Given the description of an element on the screen output the (x, y) to click on. 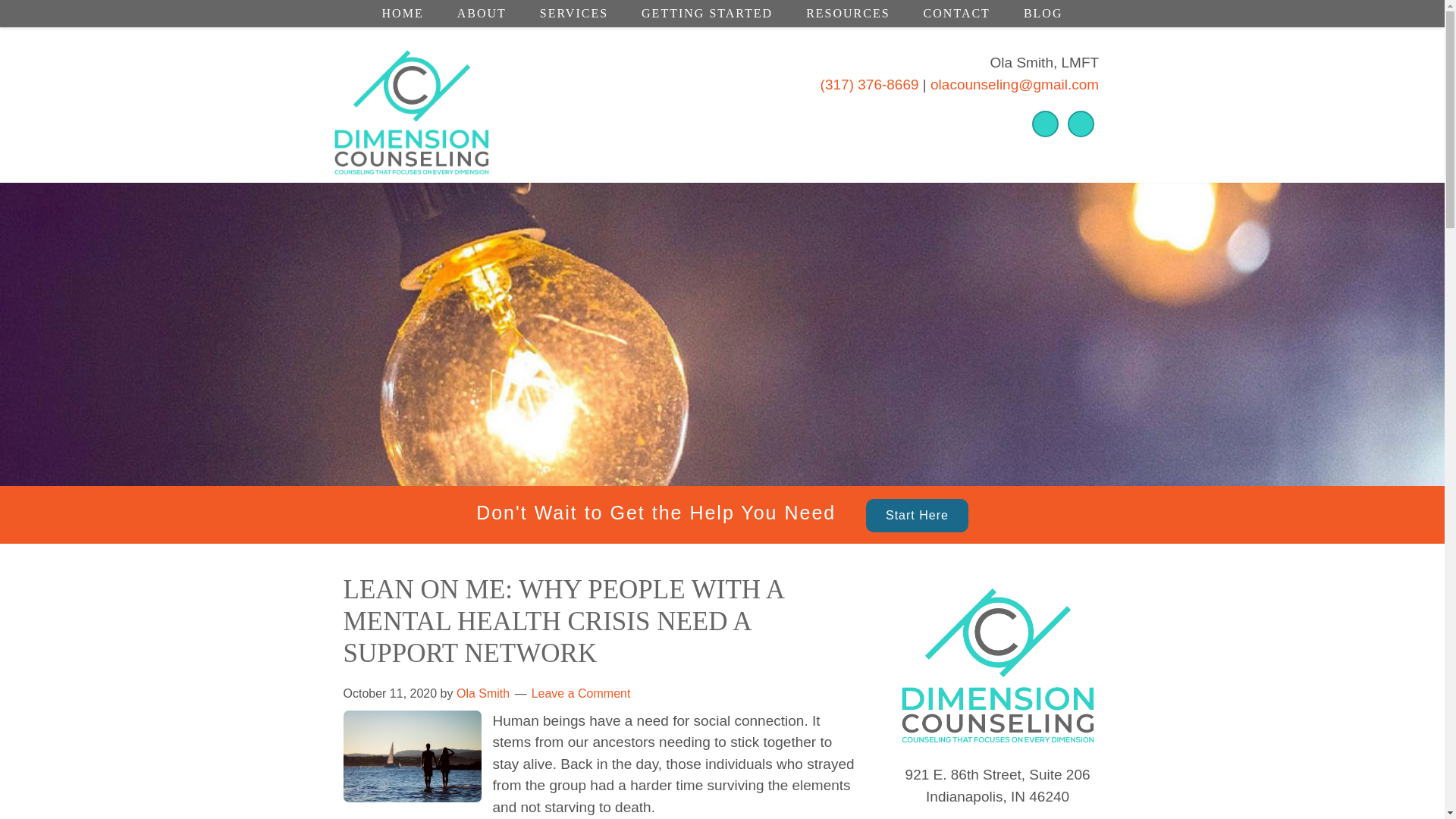
HOME (403, 13)
Ola Smith (483, 693)
ABOUT (481, 13)
BLOG (1043, 13)
RESOURCES (847, 13)
Leave a Comment (580, 693)
GETTING STARTED (706, 13)
Start Here (917, 515)
CONTACT (957, 13)
SERVICES (573, 13)
